Given the description of an element on the screen output the (x, y) to click on. 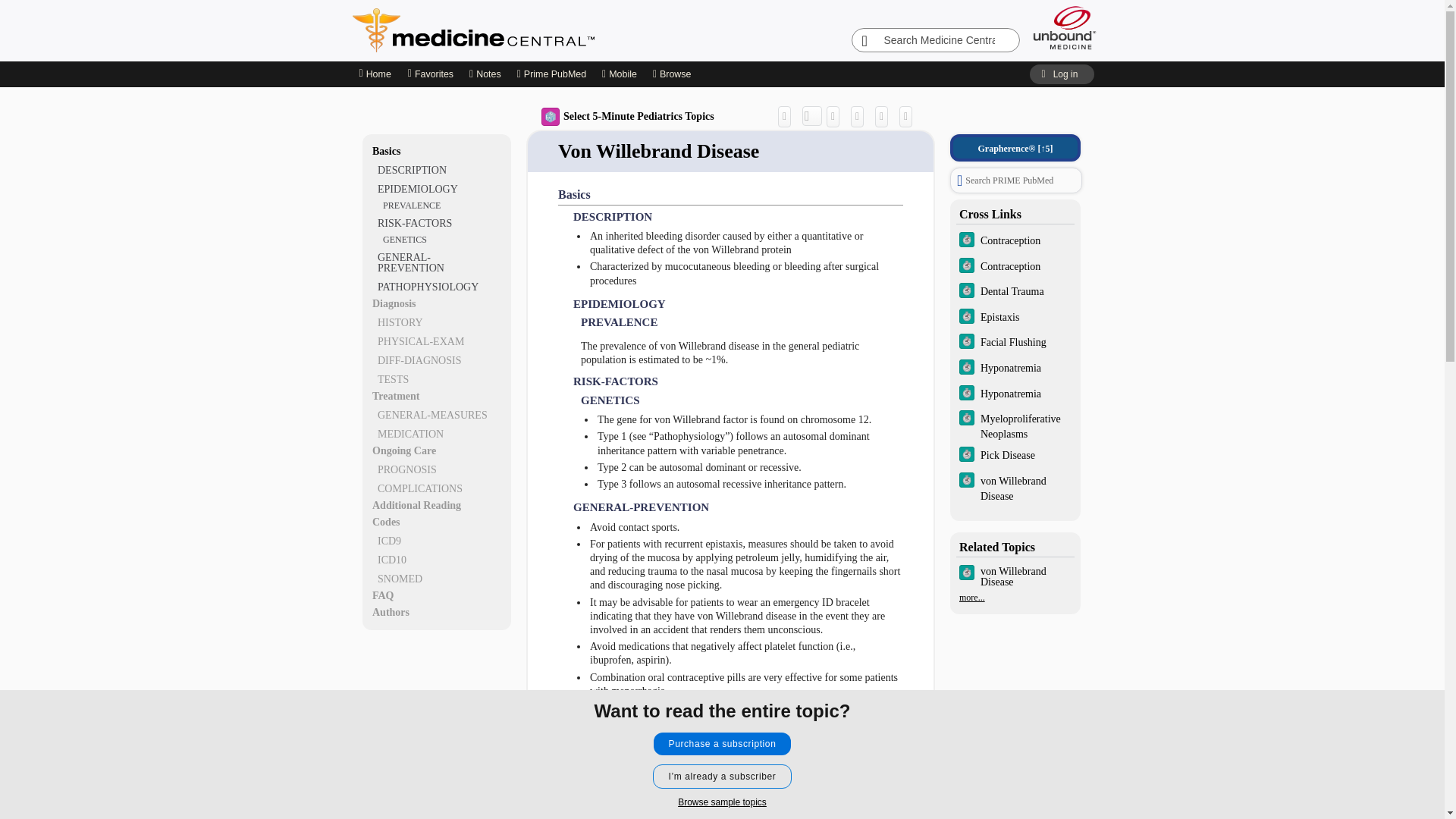
Prime PubMed (551, 73)
Favorite (885, 116)
Home (373, 73)
Notes (484, 73)
Mobile (619, 73)
Tag Record (909, 116)
Share (787, 116)
Log In (1061, 74)
Create Citation (837, 116)
Favorites (429, 73)
Notes (484, 73)
Browse (674, 73)
Home (375, 73)
Medicine Central (539, 30)
Print PDF (860, 116)
